Given the description of an element on the screen output the (x, y) to click on. 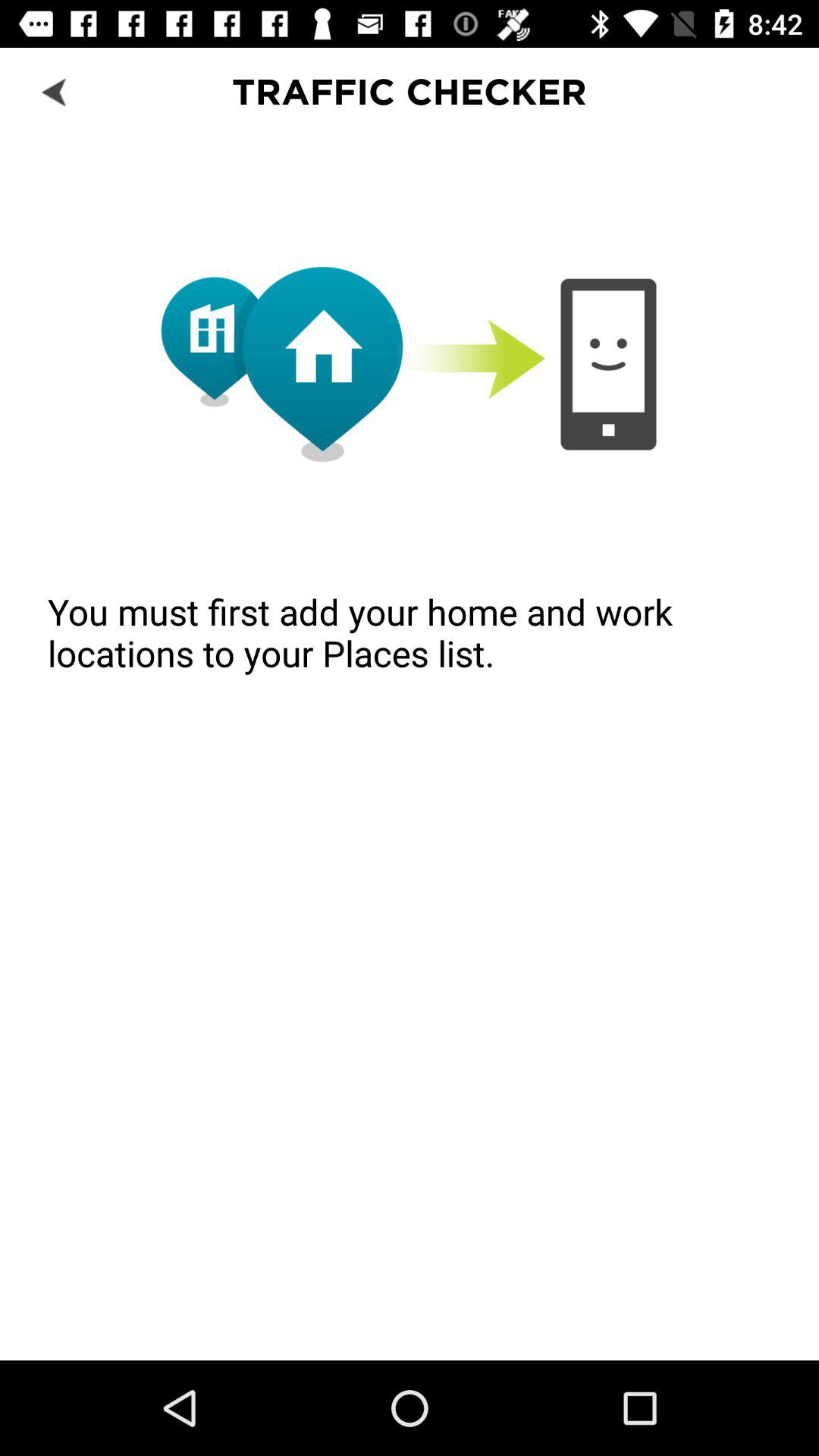
go back (55, 91)
